Given the description of an element on the screen output the (x, y) to click on. 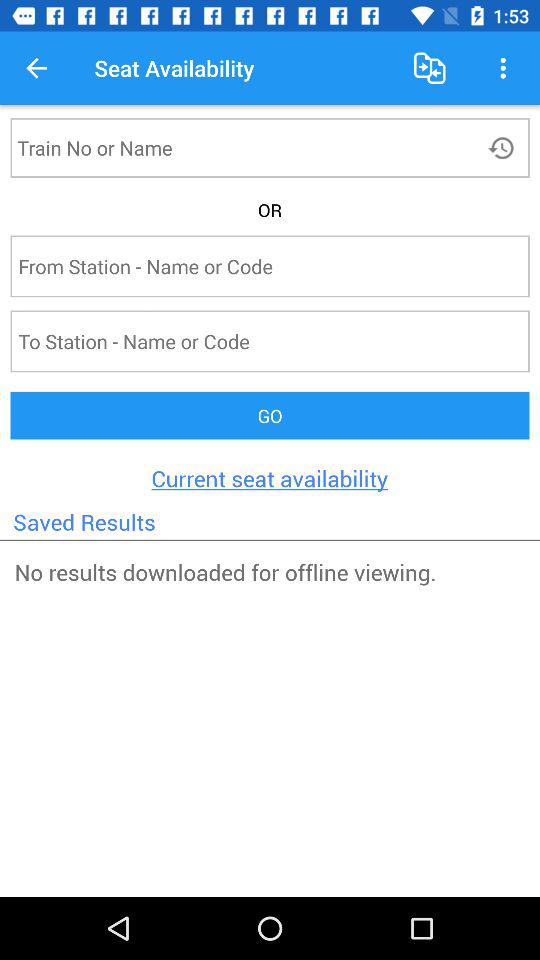
flip to the go icon (269, 415)
